Given the description of an element on the screen output the (x, y) to click on. 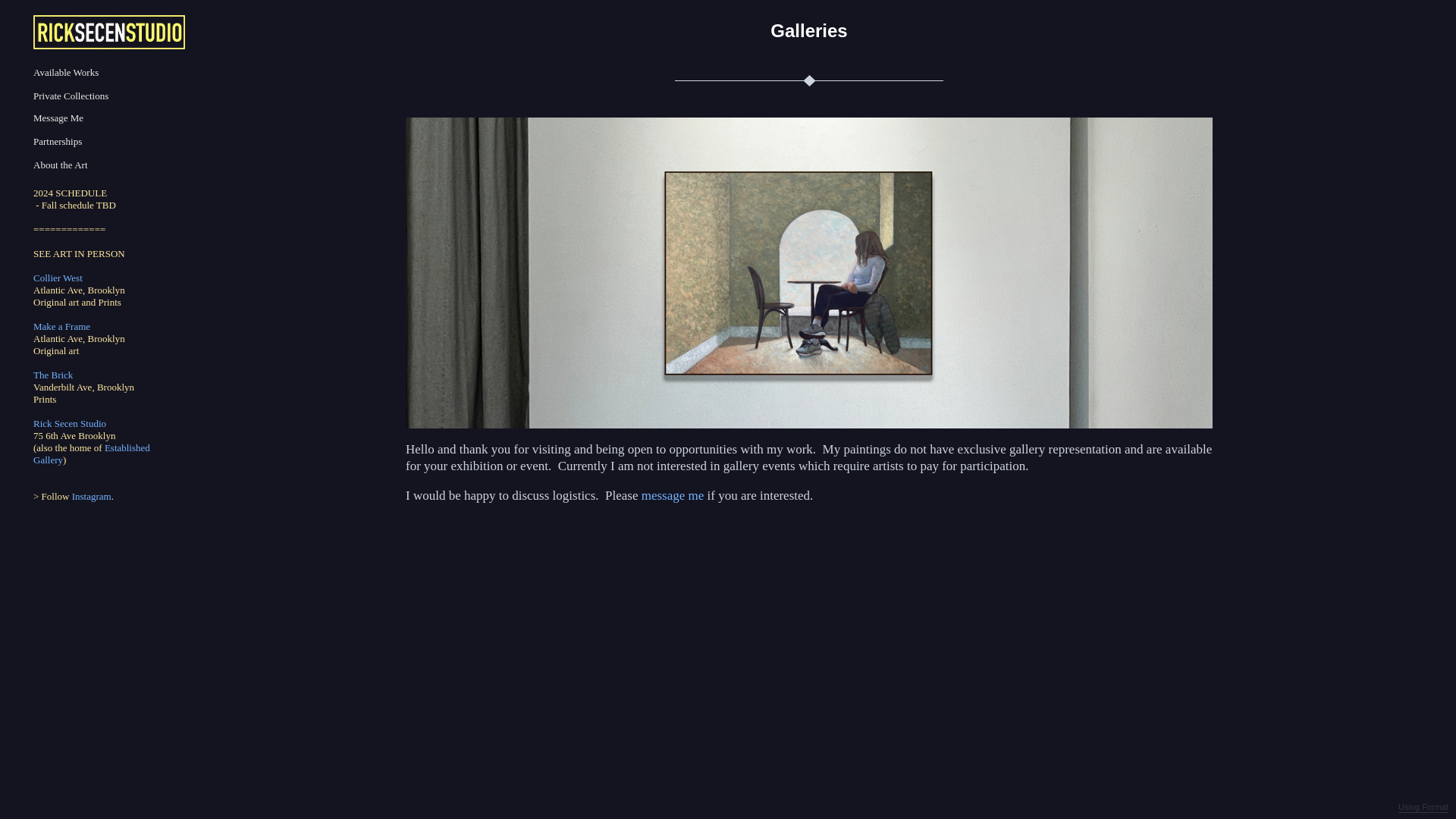
Using Format (1422, 807)
Available Works (66, 72)
Private Collections (70, 96)
The Brick (52, 374)
Rick Secen Studio (69, 423)
Collier West (57, 277)
Message Me (57, 118)
Make a Frame (61, 326)
Partnerships (57, 141)
message me  (674, 495)
About the Art (60, 165)
Instagram (91, 496)
Established Gallery (91, 454)
